Given the description of an element on the screen output the (x, y) to click on. 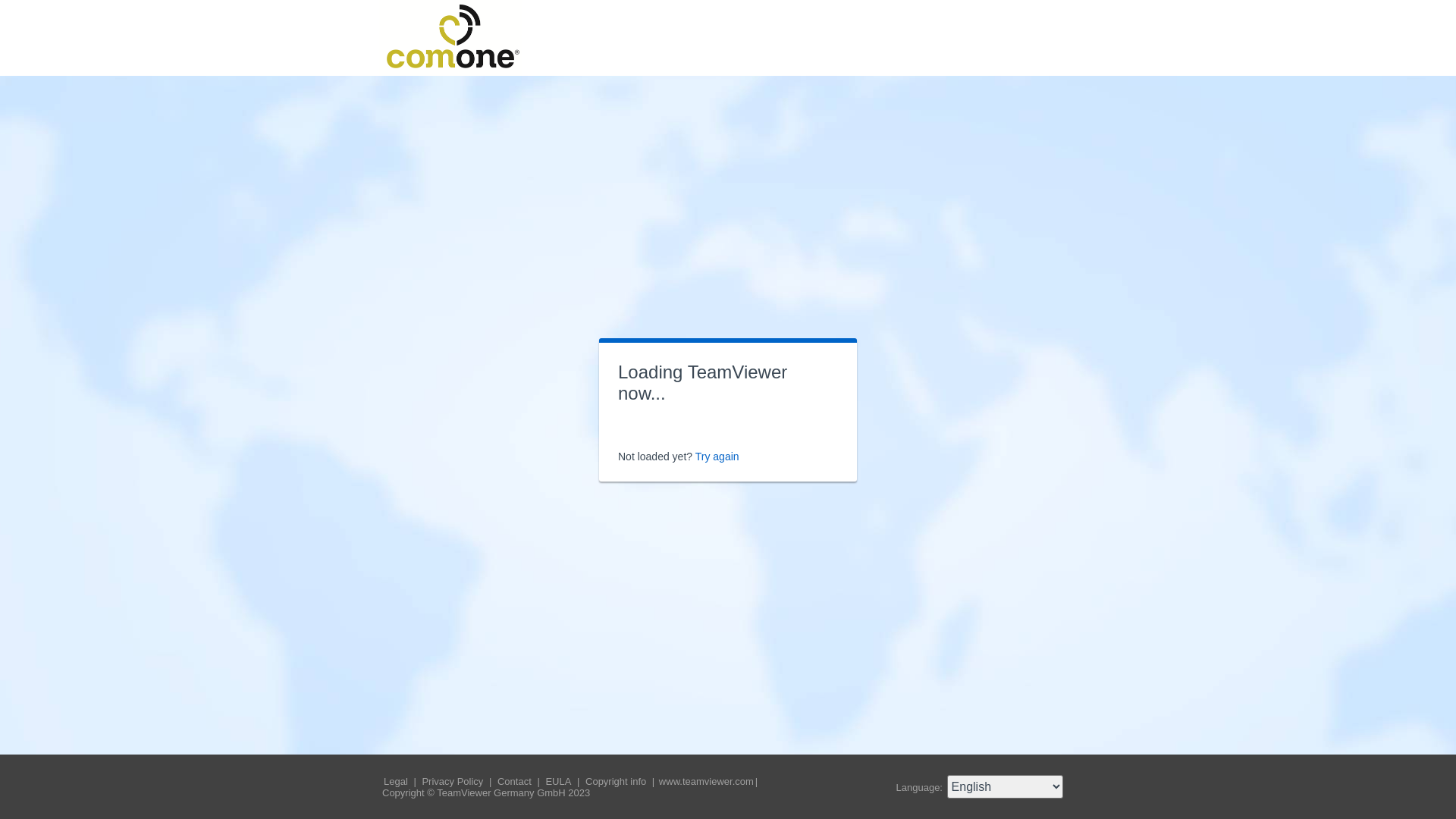
Legal Element type: text (396, 780)
www.teamviewer.com Element type: text (705, 780)
TeamViewer Element type: hover (450, 37)
Copyright info Element type: text (616, 780)
Contact Element type: text (515, 780)
Try again Element type: text (717, 456)
Privacy Policy Element type: text (453, 780)
EULA Element type: text (559, 780)
